Given the description of an element on the screen output the (x, y) to click on. 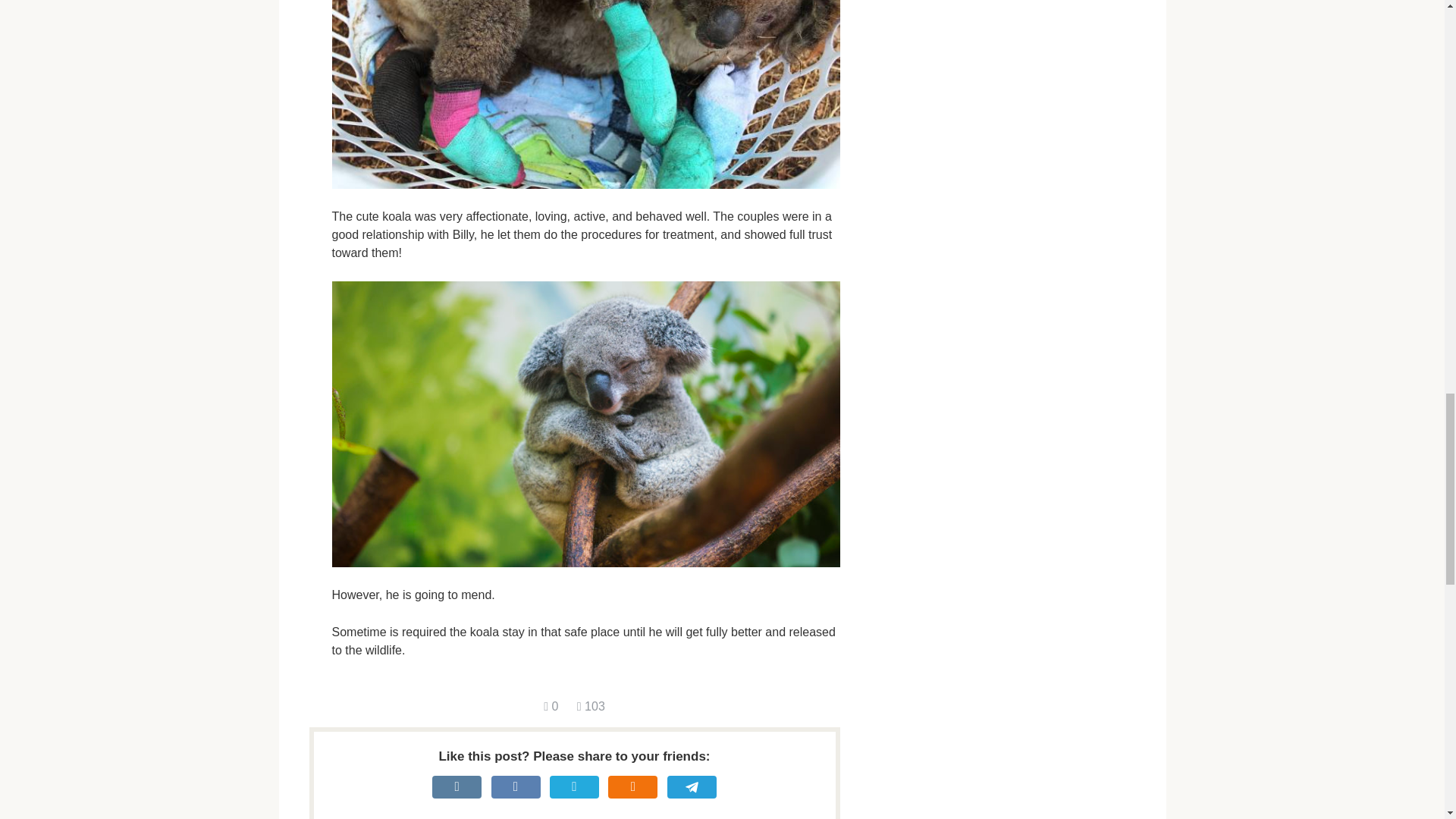
Views (590, 706)
Comments (550, 706)
